Given the description of an element on the screen output the (x, y) to click on. 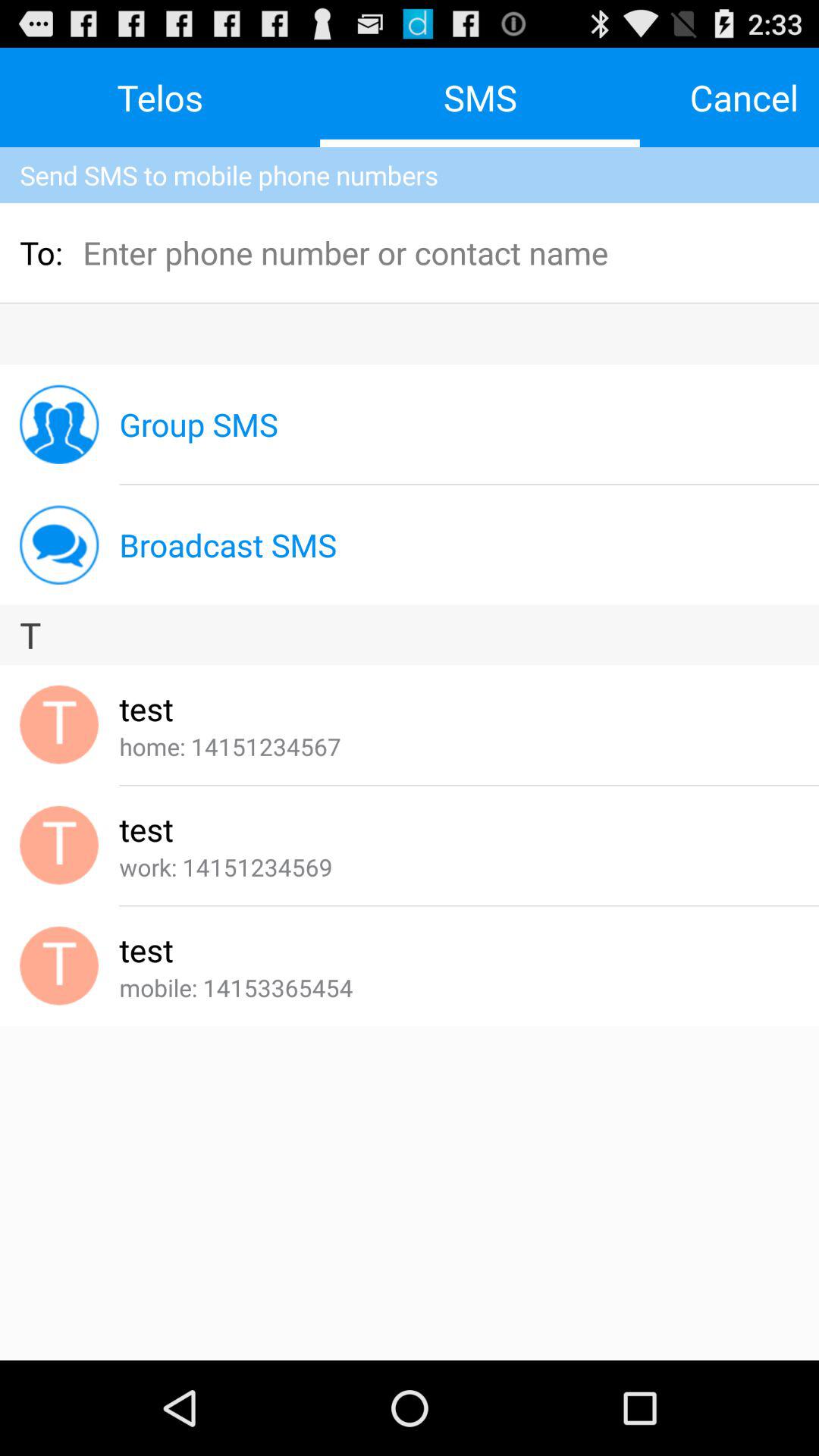
open t app (409, 634)
